Given the description of an element on the screen output the (x, y) to click on. 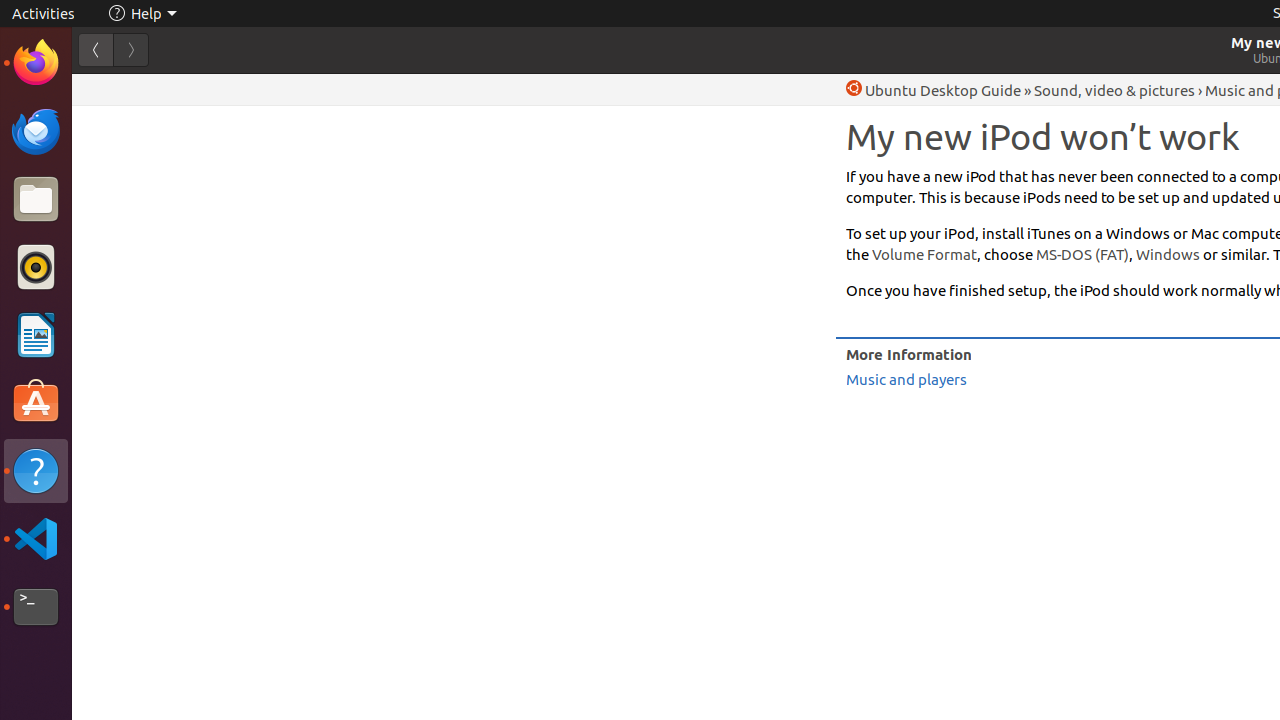
Activities Element type: label (43, 13)
Terminal Element type: push-button (36, 607)
Help Ubuntu Desktop Guide Element type: link (933, 89)
